Given the description of an element on the screen output the (x, y) to click on. 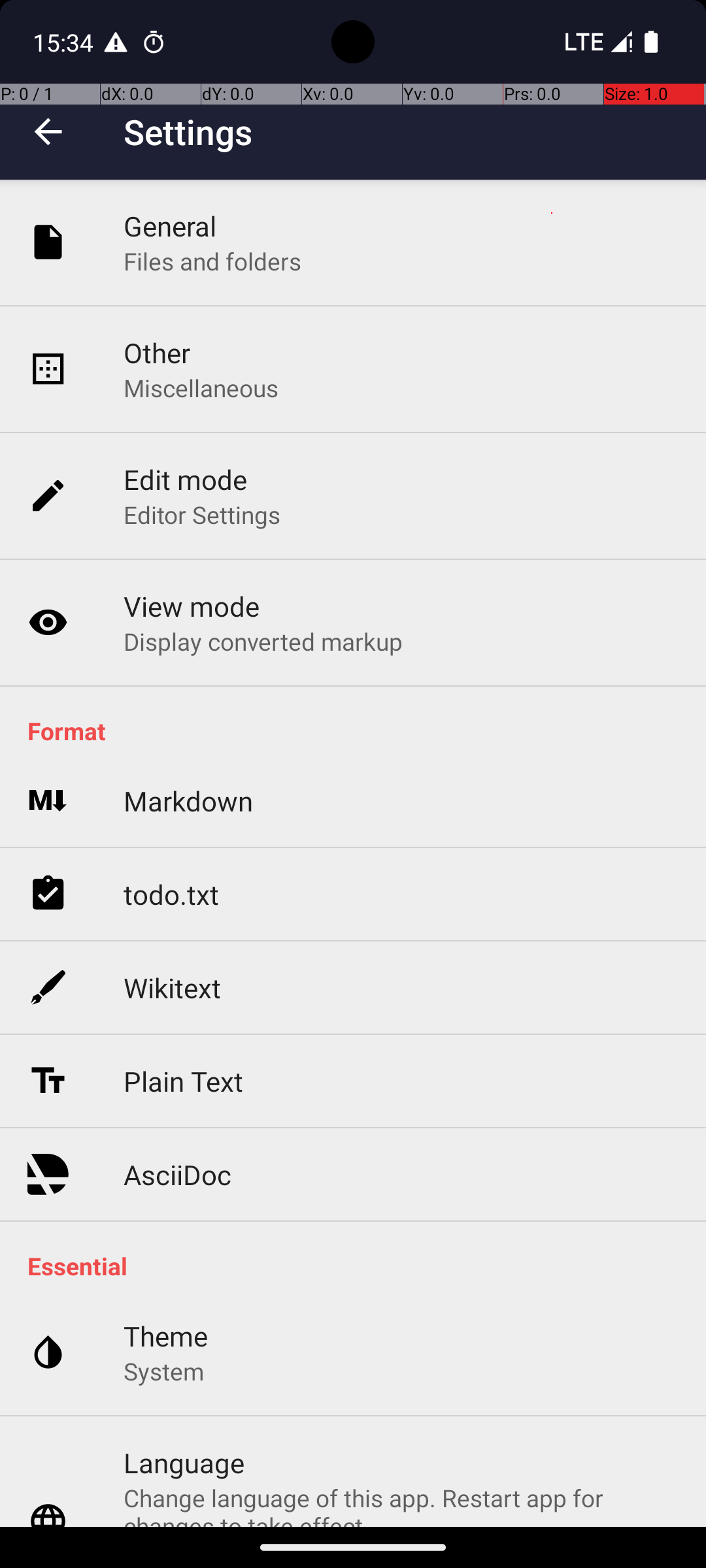
Format Element type: android.widget.TextView (359, 730)
Essential Element type: android.widget.TextView (359, 1265)
General Element type: android.widget.TextView (170, 225)
Files and folders Element type: android.widget.TextView (212, 260)
Other Element type: android.widget.TextView (156, 352)
Miscellaneous Element type: android.widget.TextView (200, 387)
Edit mode Element type: android.widget.TextView (185, 478)
Editor Settings Element type: android.widget.TextView (202, 514)
Display converted markup Element type: android.widget.TextView (263, 640)
Markdown Element type: android.widget.TextView (187, 800)
todo.txt Element type: android.widget.TextView (170, 893)
Wikitext Element type: android.widget.TextView (171, 987)
Plain Text Element type: android.widget.TextView (183, 1080)
AsciiDoc Element type: android.widget.TextView (177, 1173)
Theme Element type: android.widget.TextView (165, 1335)
System Element type: android.widget.TextView (163, 1370)
Language Element type: android.widget.TextView (183, 1462)
Change language of this app. Restart app for changes to take effect

English (English, United States) Element type: android.widget.TextView (400, 1503)
